Given the description of an element on the screen output the (x, y) to click on. 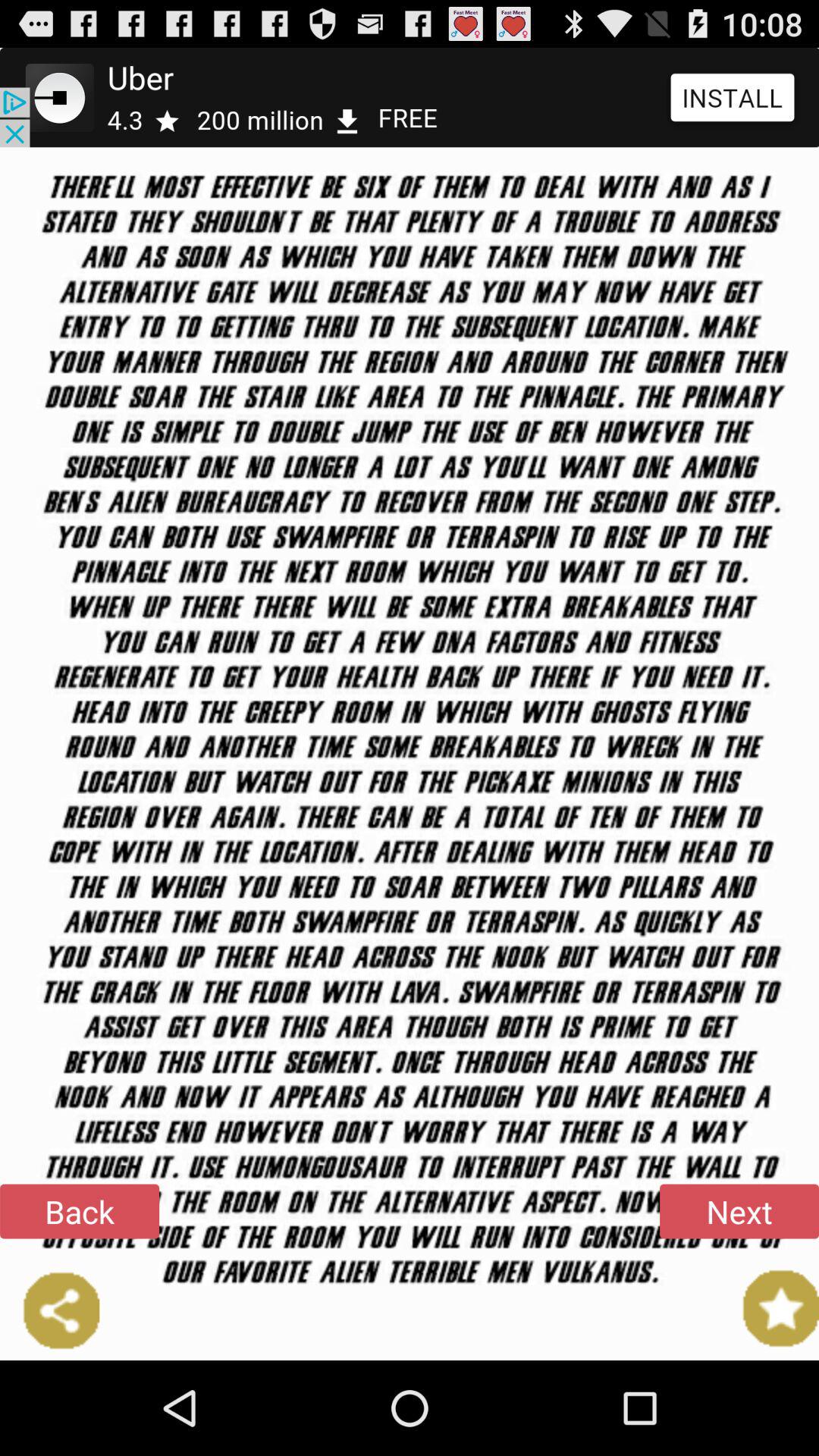
turn on the next item (739, 1211)
